Given the description of an element on the screen output the (x, y) to click on. 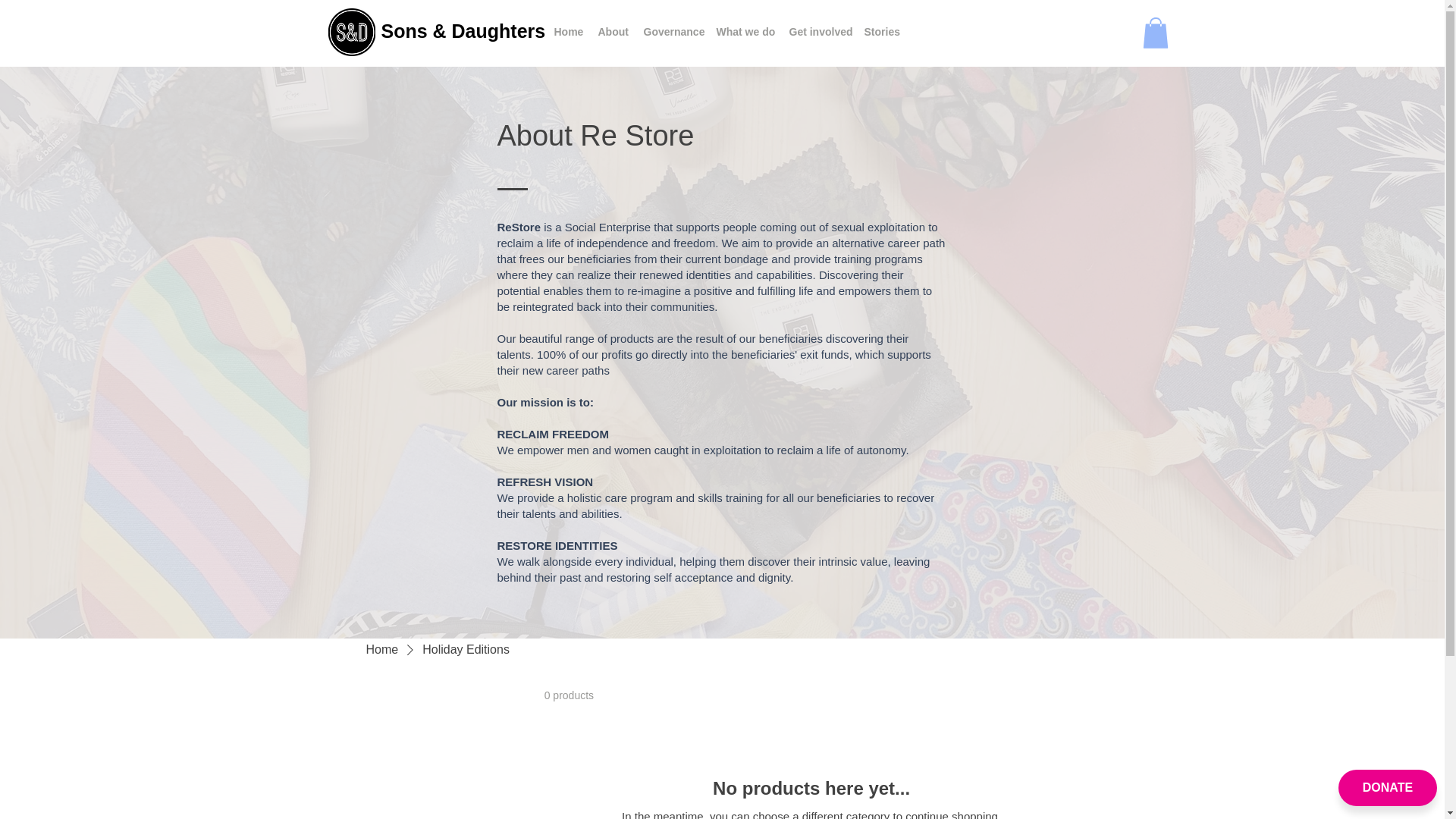
About (611, 31)
Governance (670, 31)
Home (381, 649)
Get involved (818, 31)
What we do (743, 31)
Stories (880, 31)
Home (567, 31)
